Given the description of an element on the screen output the (x, y) to click on. 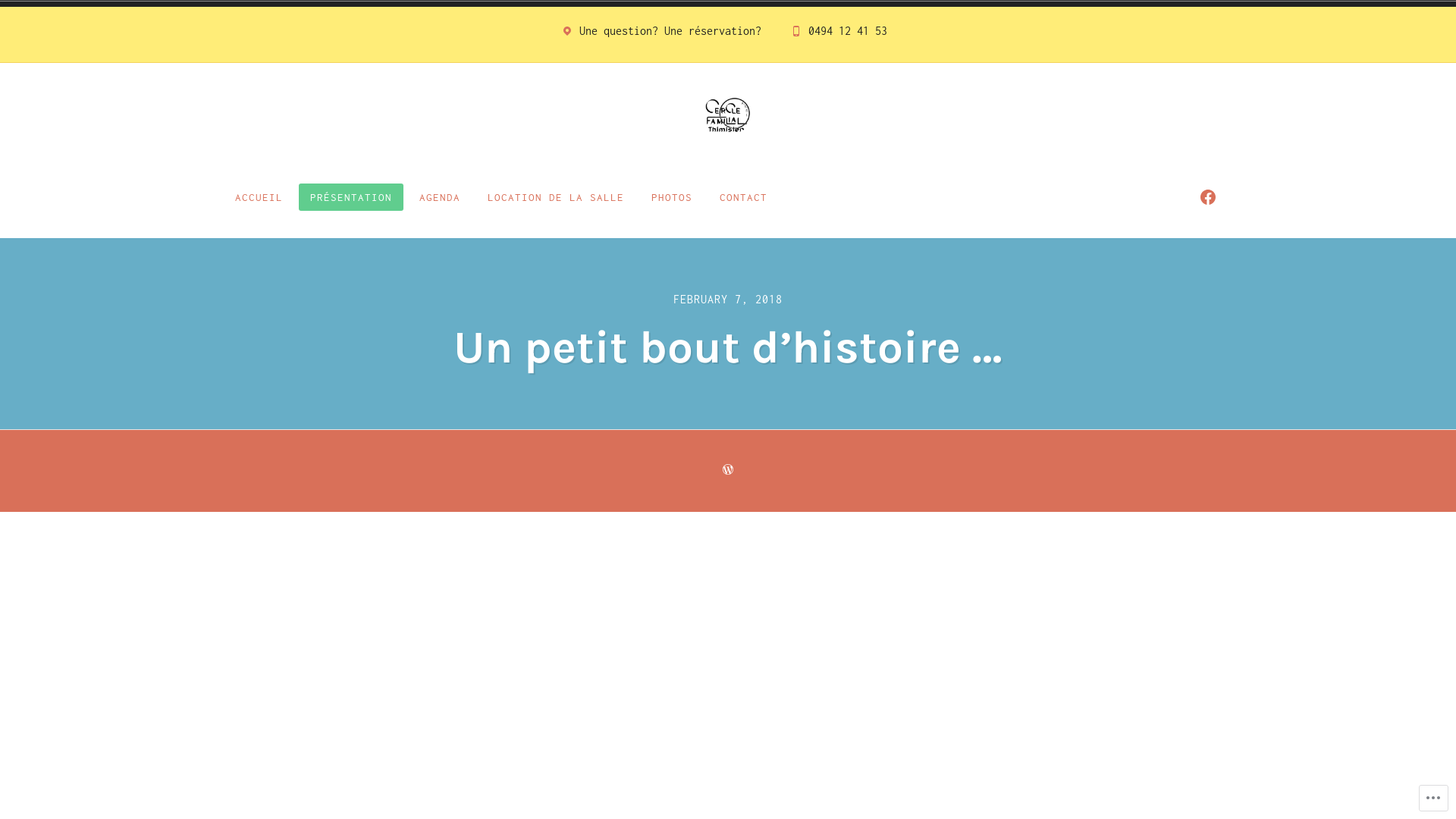
LOCATION DE LA SALLE Element type: text (555, 196)
CONTACT Element type: text (743, 196)
AGENDA Element type: text (439, 196)
CREATE A WEBSITE OR BLOG AT WORDPRESS.COM Element type: text (727, 470)
Cercle familial de Thimister Element type: text (535, 178)
ACCUEIL Element type: text (258, 196)
PHOTOS Element type: text (671, 196)
Phone 0494 12 41 53 Element type: text (838, 34)
FEBRUARY 7, 2018 Element type: text (727, 298)
